Given the description of an element on the screen output the (x, y) to click on. 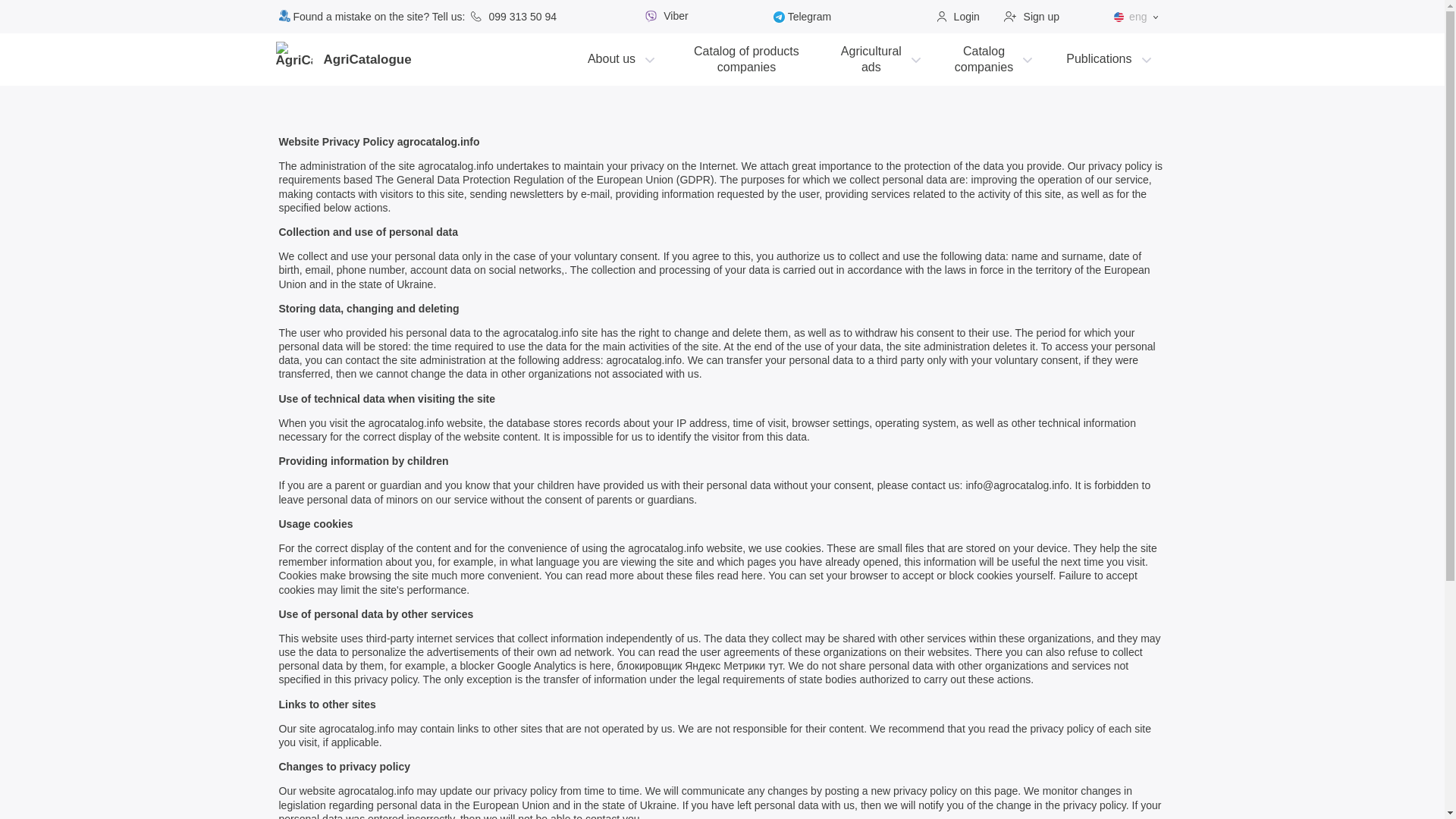
Viber (879, 59)
Login (664, 16)
eng (958, 16)
About us (991, 59)
Sign up (1136, 15)
Telegram (745, 59)
AgriCatalogue (619, 59)
099 313 50 94 (1031, 16)
